Given the description of an element on the screen output the (x, y) to click on. 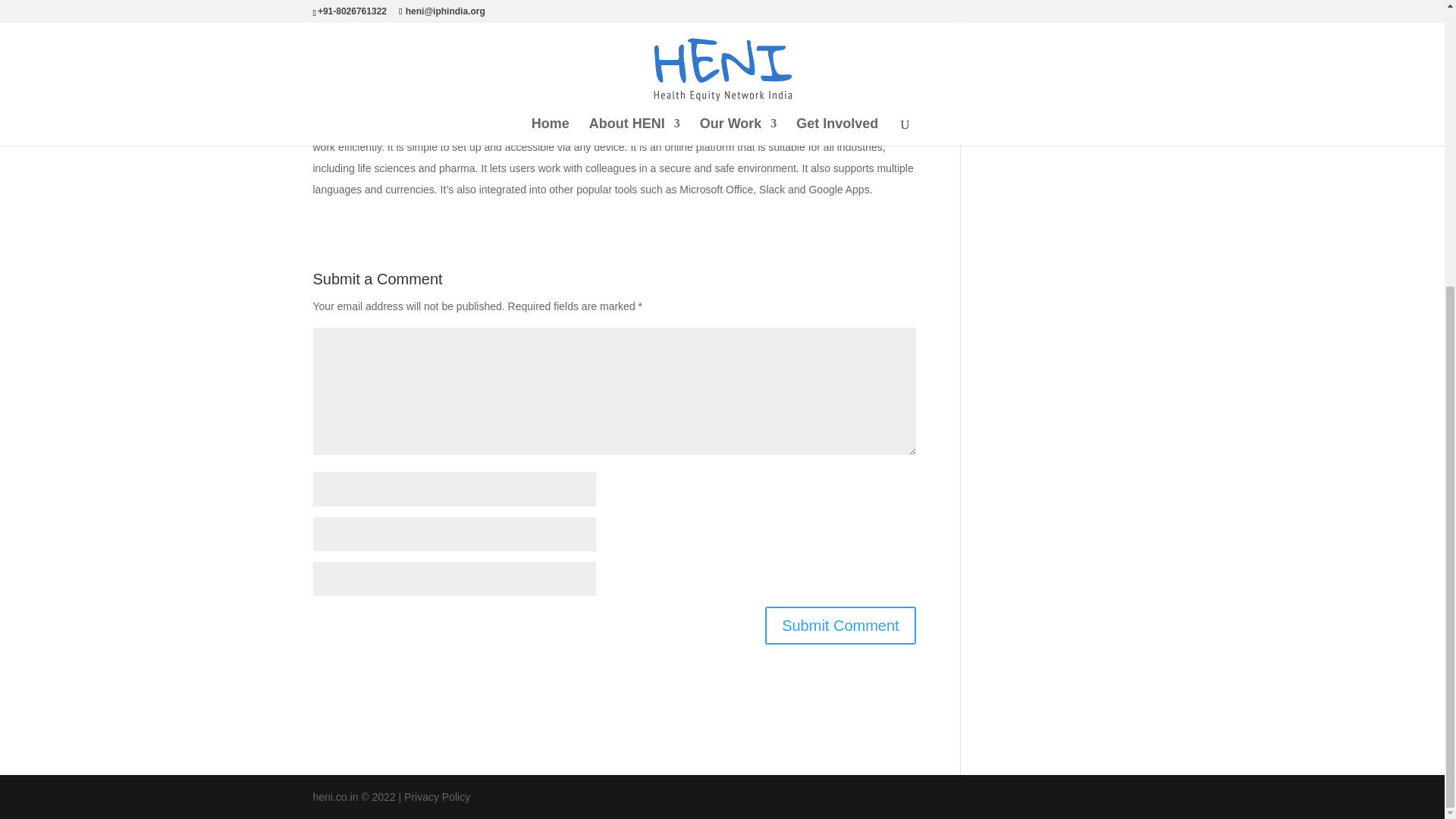
livevdr.com (752, 125)
Further Readings (1024, 15)
Submit Comment (840, 625)
Submit Comment (840, 625)
General Discussion (1029, 41)
Recent updates (1021, 115)
